Given the description of an element on the screen output the (x, y) to click on. 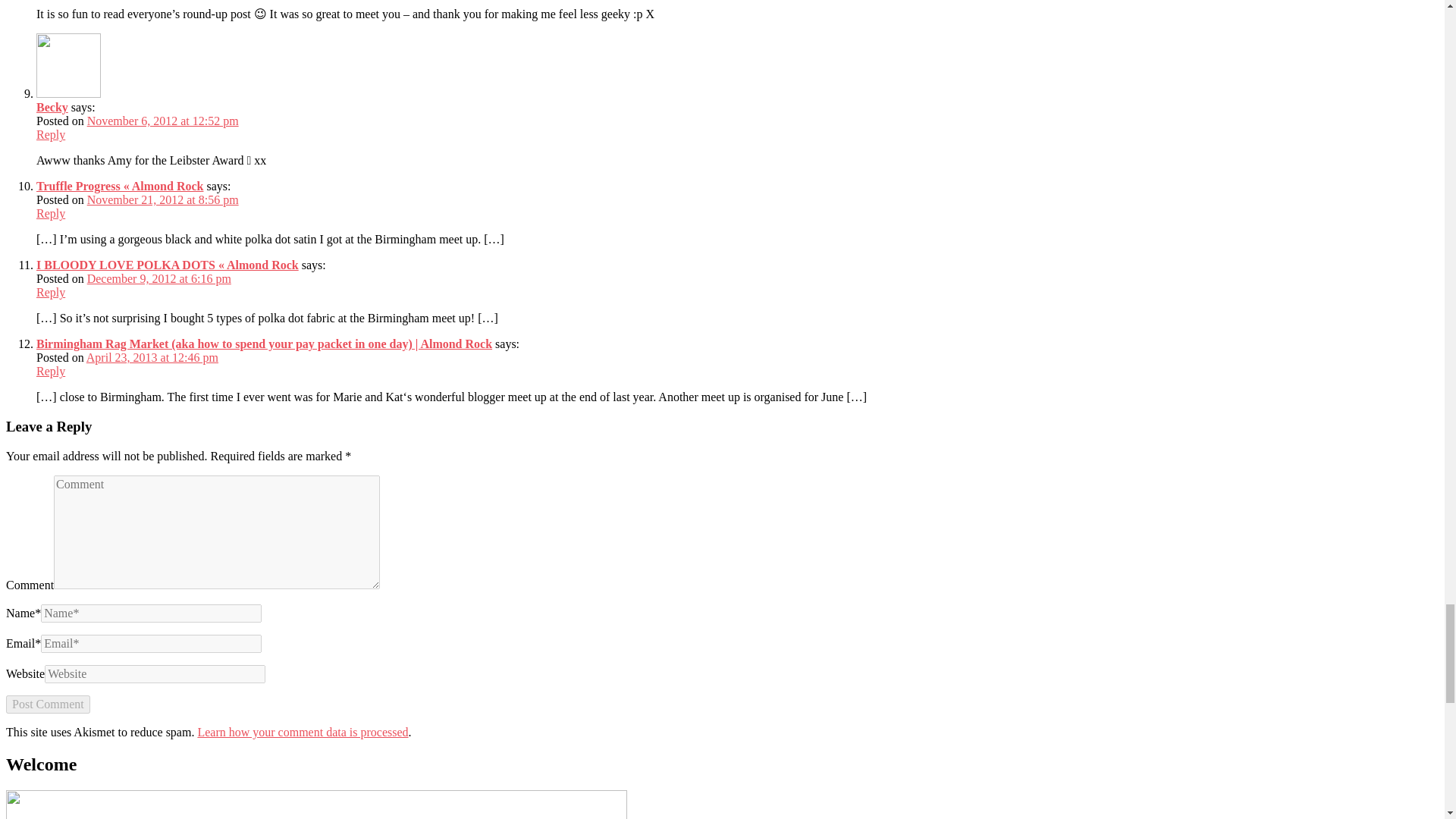
Post Comment (47, 704)
